Given the description of an element on the screen output the (x, y) to click on. 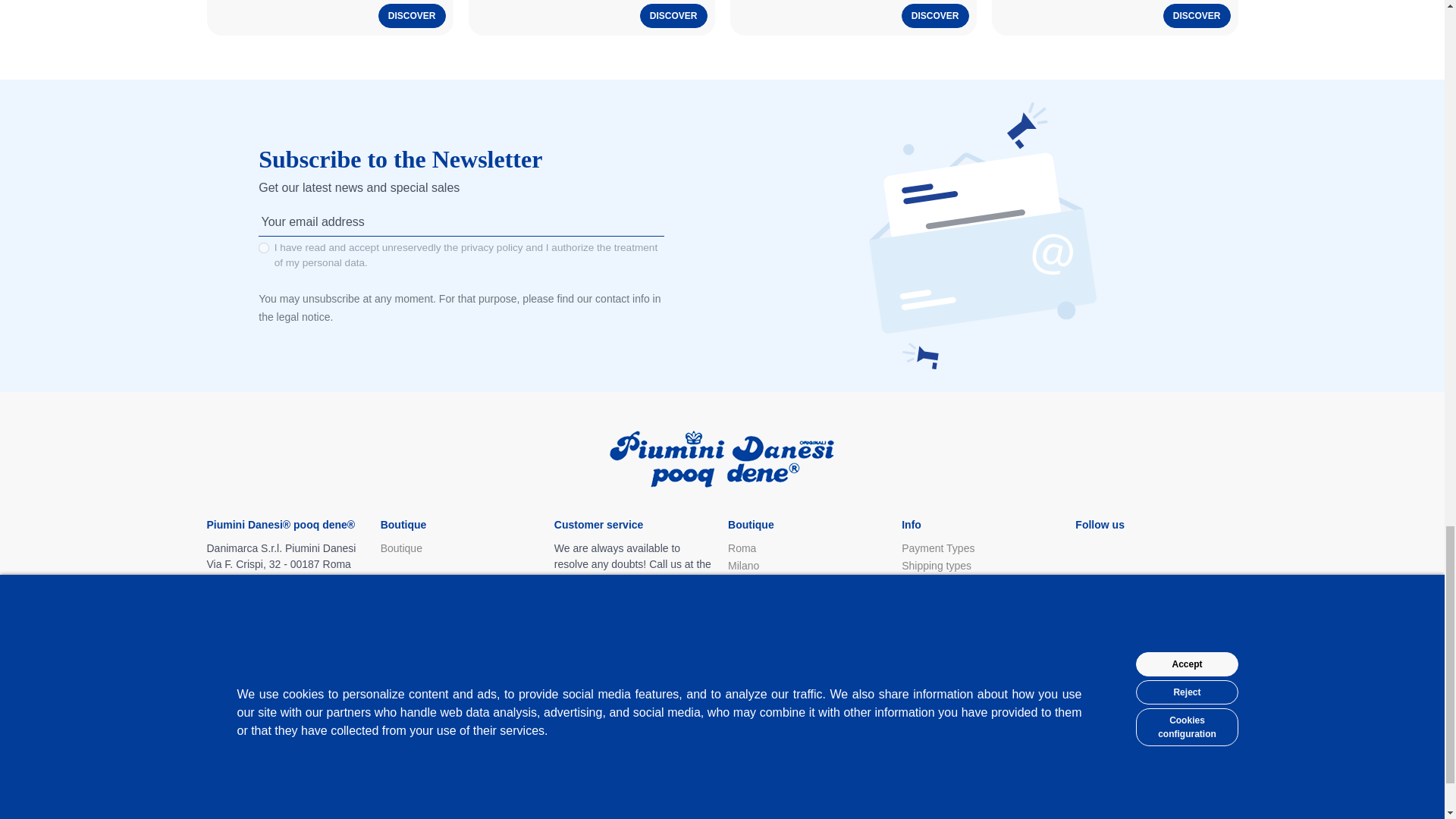
1 (264, 247)
